Given the description of an element on the screen output the (x, y) to click on. 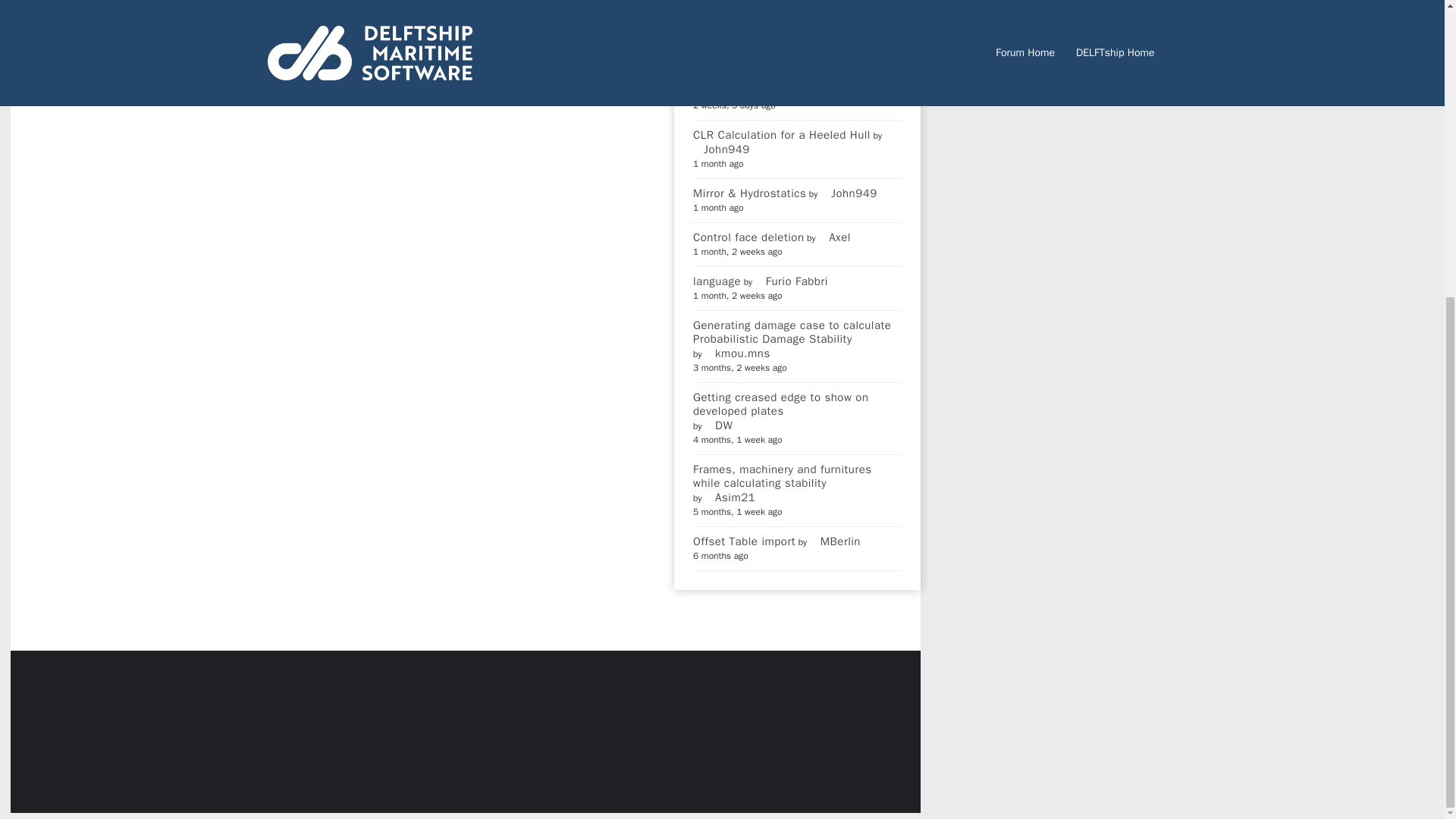
MBerlin (834, 540)
View Asim21's profile (729, 497)
Asim21 (729, 497)
viewing individual stations (762, 18)
Axel (834, 237)
View Axel's profile (834, 237)
View Evergreenboats's profile (739, 90)
Evergreenboats (739, 90)
Control face deletion (748, 237)
CLR Calculation for a Heeled Hull (781, 134)
